Given the description of an element on the screen output the (x, y) to click on. 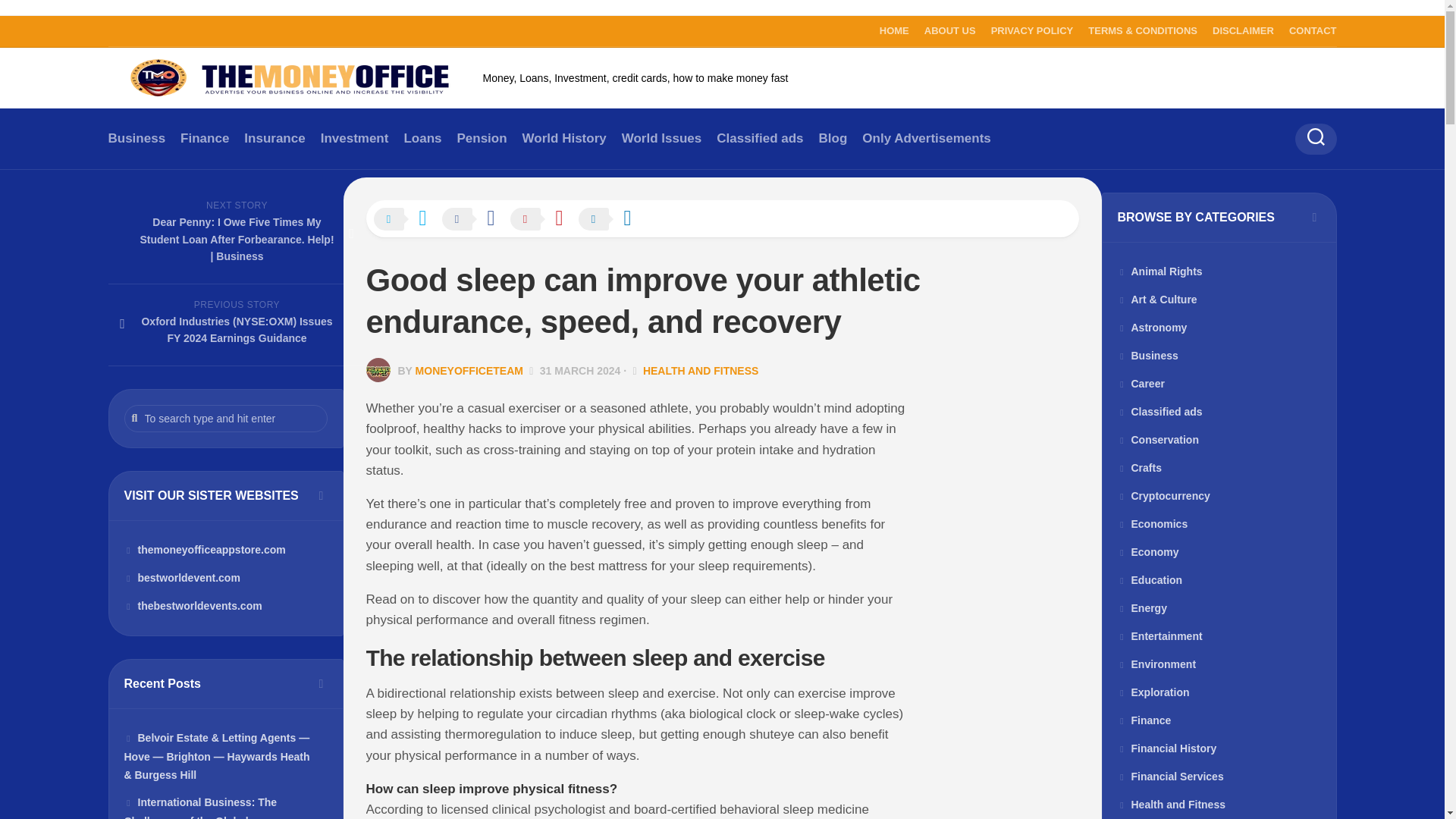
Pension (481, 138)
Share on X (406, 219)
Share on Pinterest (543, 219)
Finance (204, 138)
World Issues (661, 138)
MONEYOFFICETEAM (468, 370)
World History (564, 138)
Only Advertisements (925, 138)
Investment (354, 138)
ABOUT US (949, 30)
Blog (832, 138)
To search type and hit enter (225, 418)
Business (136, 138)
Loans (422, 138)
To search type and hit enter (225, 418)
